Given the description of an element on the screen output the (x, y) to click on. 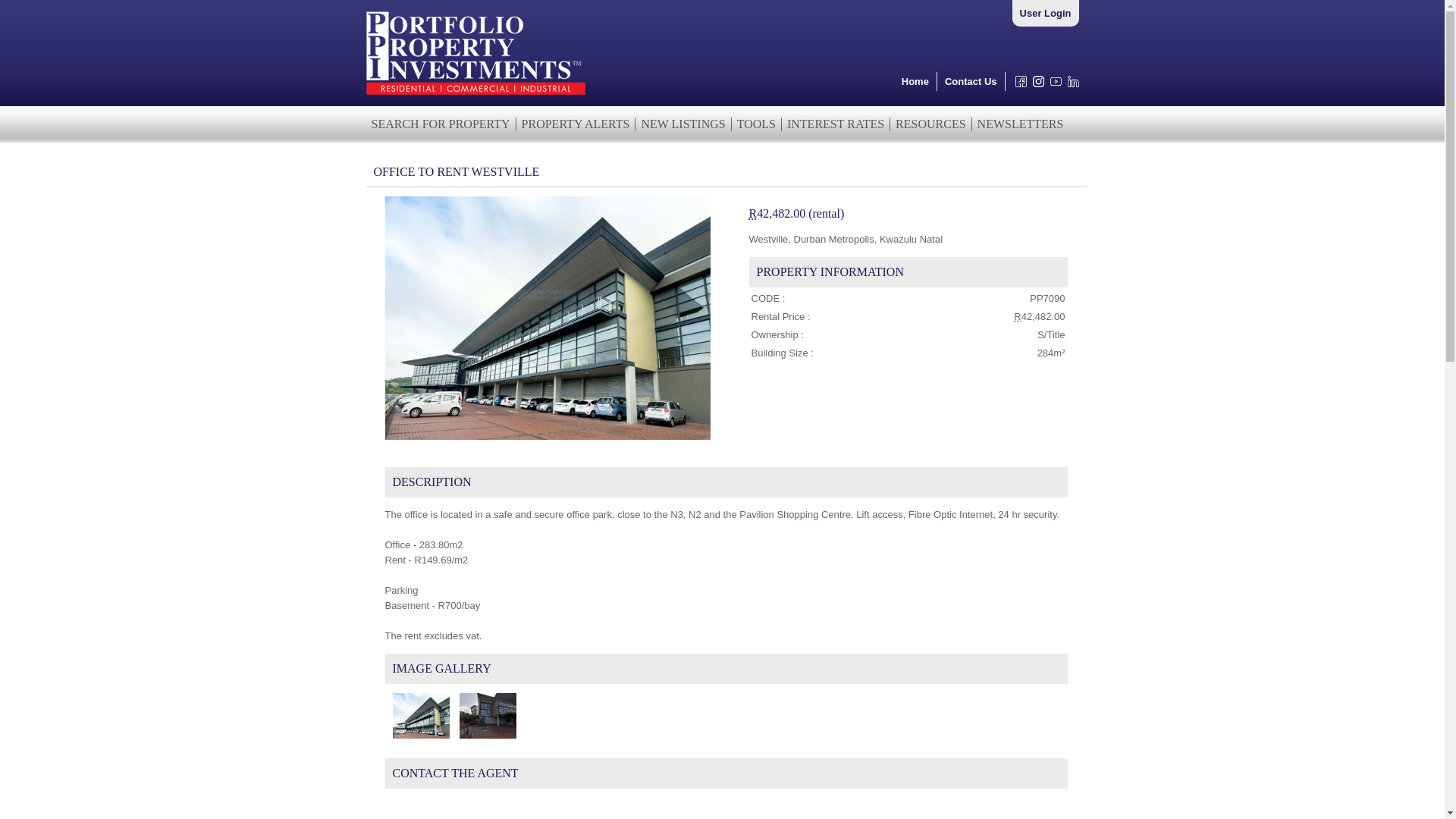
Office to rent Westville (483, 715)
RESOURCES (930, 124)
Office to rent Westville (547, 317)
Facebook (1017, 85)
SEARCH FOR PROPERTY (440, 124)
Home (915, 81)
Contact Us (971, 81)
YouTube (1052, 85)
Instagram (1034, 85)
Home (915, 81)
INTEREST RATES (835, 124)
NEW LISTINGS (682, 124)
TOOLS (756, 124)
Office to rent Westville (417, 715)
PROPERTY ALERTS (576, 124)
